Given the description of an element on the screen output the (x, y) to click on. 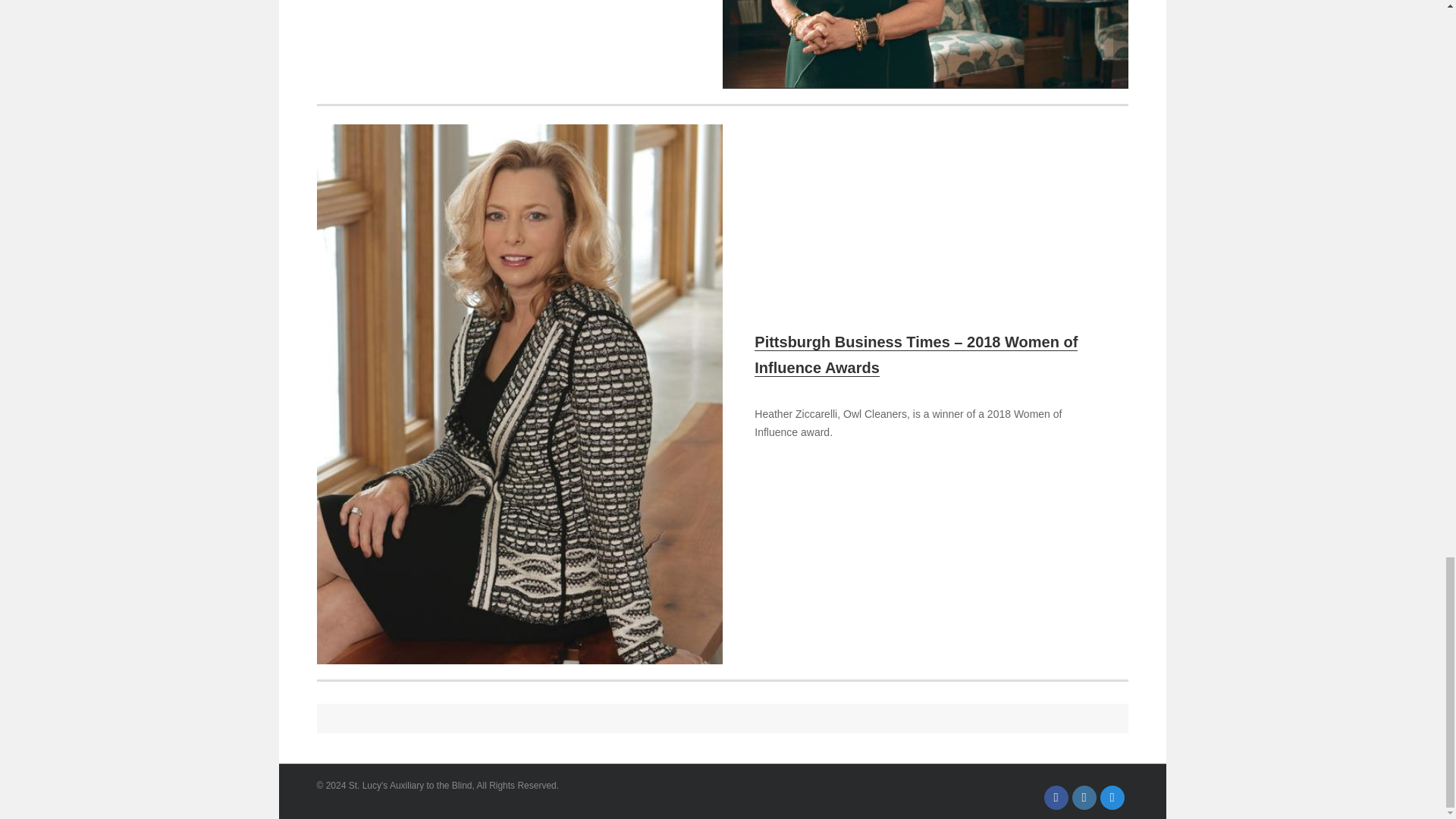
Follow us on Instagram (1083, 797)
Connect on Facebook (1055, 797)
Get in touch via email (1111, 797)
